Given the description of an element on the screen output the (x, y) to click on. 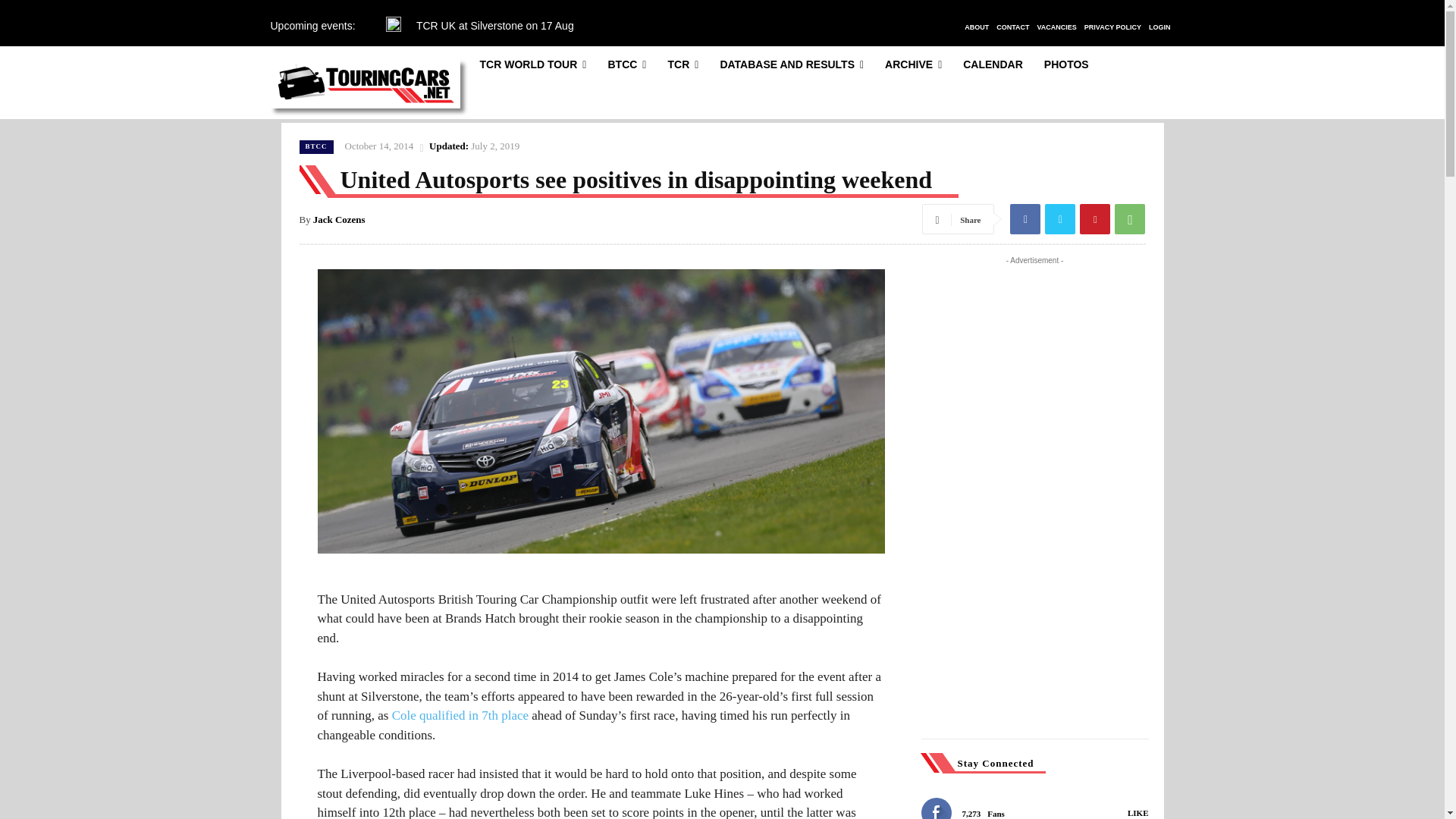
Pinterest (1094, 218)
Twitter (1060, 218)
WhatsApp (1129, 218)
New TCN Logo (364, 83)
Facebook (1025, 218)
